Given the description of an element on the screen output the (x, y) to click on. 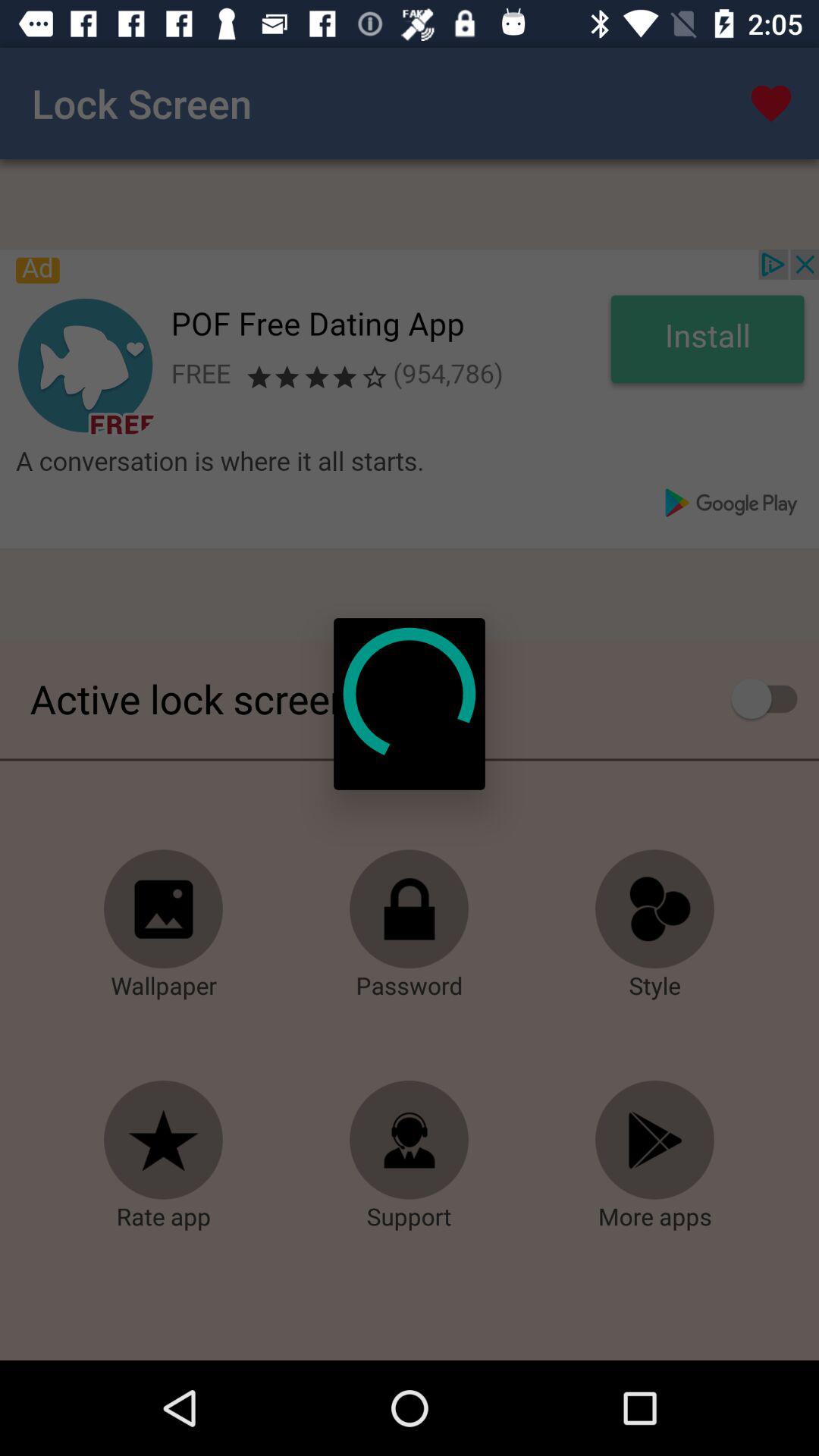
password (409, 909)
